Given the description of an element on the screen output the (x, y) to click on. 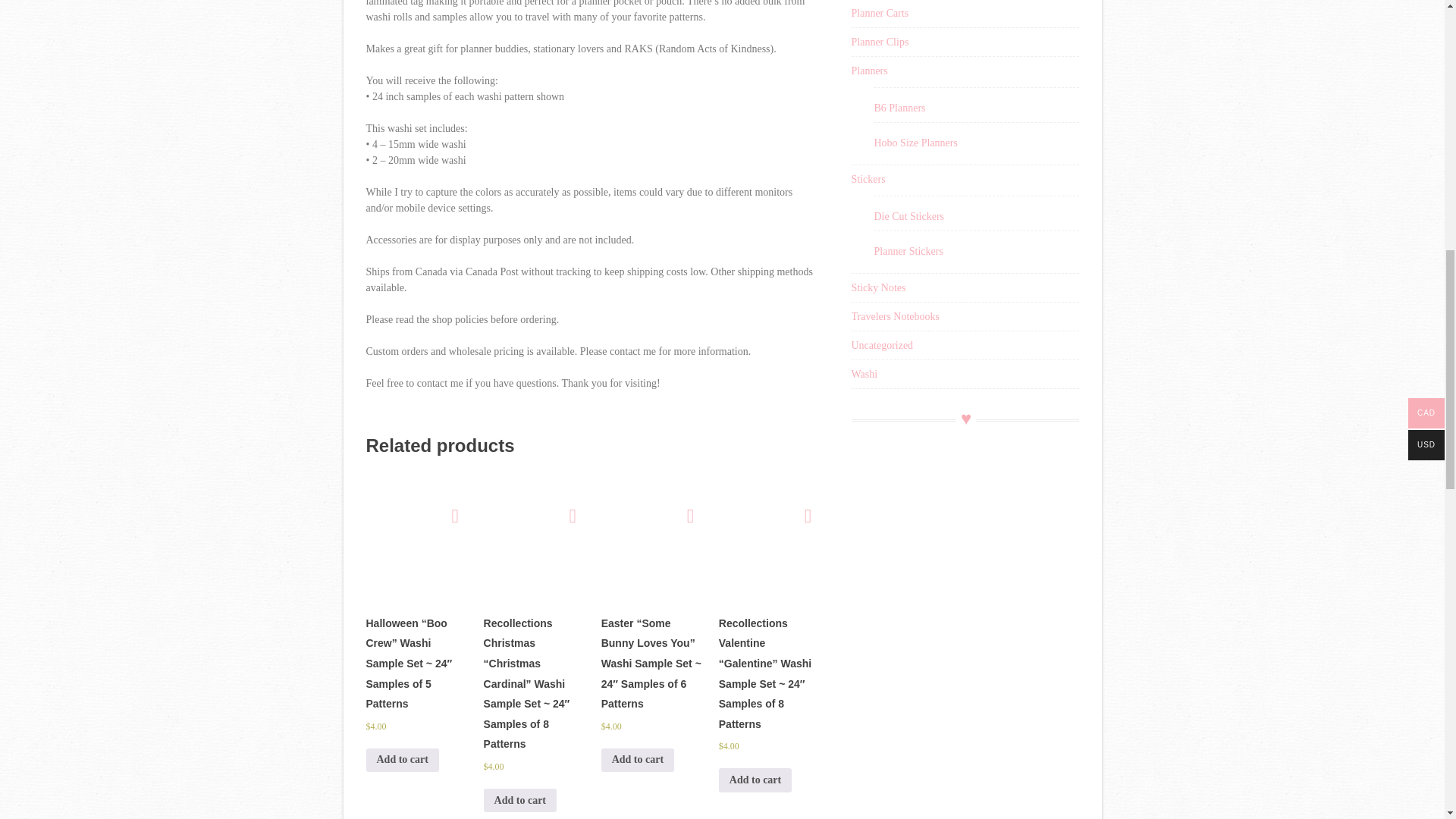
Add to cart (519, 800)
Add to cart (637, 760)
Add to cart (755, 779)
Add to cart (401, 760)
